Given the description of an element on the screen output the (x, y) to click on. 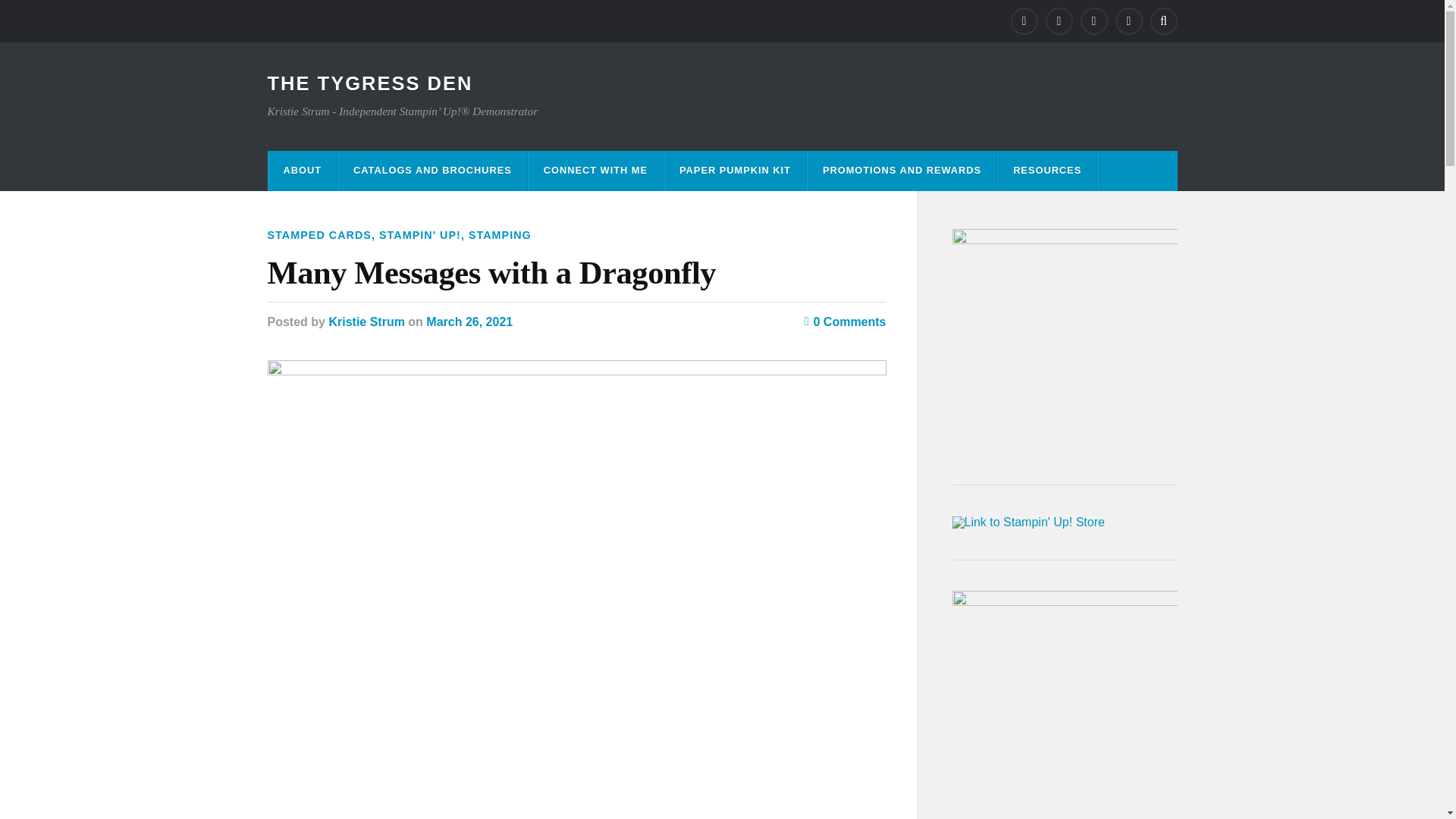
STAMPING (499, 234)
STAMPED CARDS (318, 234)
ABOUT (302, 170)
CONNECT WITH ME (595, 170)
PAPER PUMPKIN KIT (734, 170)
PROMOTIONS AND REWARDS (901, 170)
CATALOGS AND BROCHURES (432, 170)
Kristie Strum (366, 321)
RESOURCES (1046, 170)
0 Comments (845, 321)
